Given the description of an element on the screen output the (x, y) to click on. 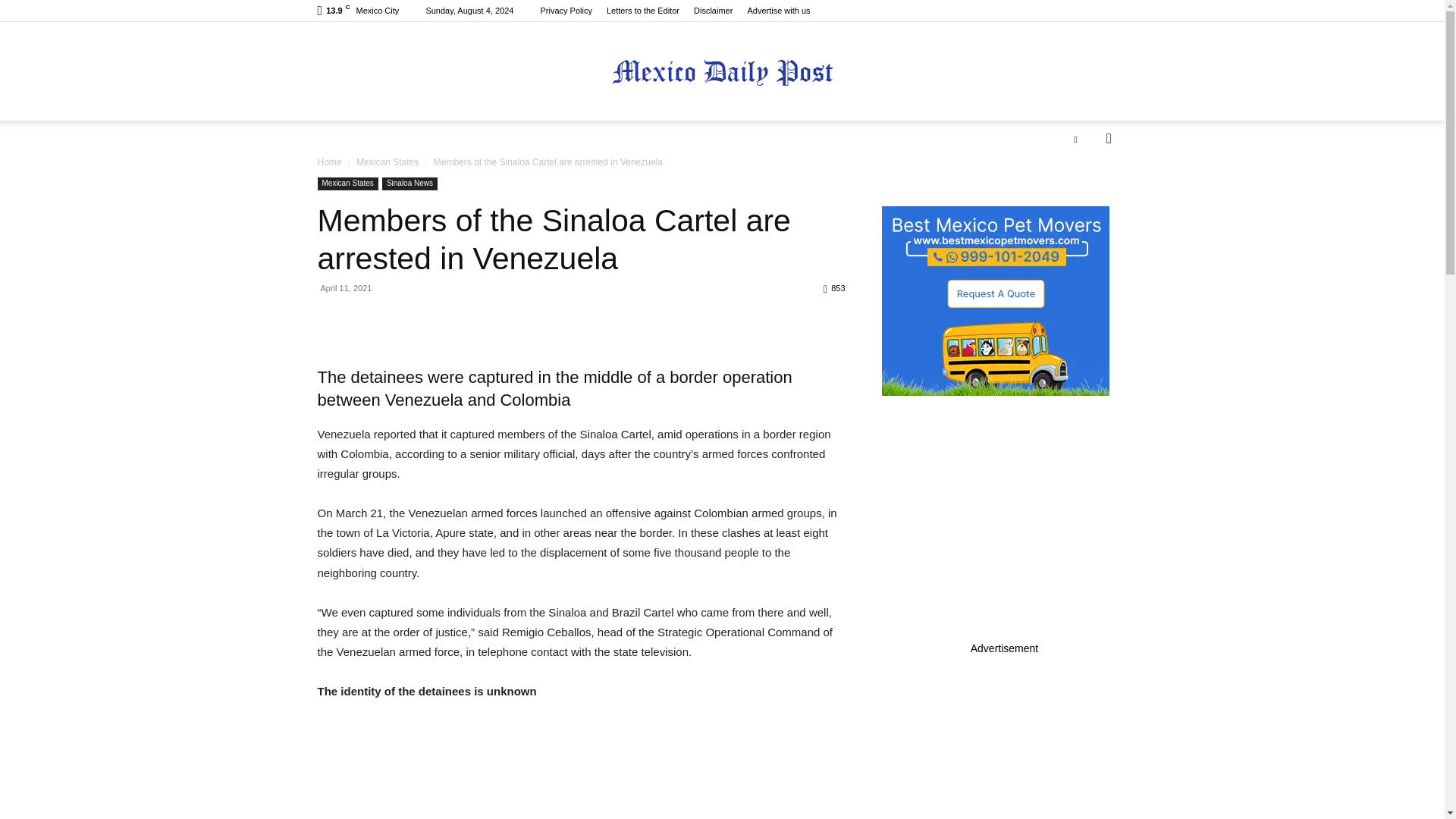
Advertise with us (777, 10)
Letters to the Editor (643, 10)
Mexican States (347, 183)
Mexican States (387, 162)
Sinaloa News (409, 183)
Privacy Policy (565, 10)
Search (1085, 199)
Mexico Daily Post (721, 72)
View all posts in Mexican States (387, 162)
Home (328, 162)
Disclaimer (713, 10)
Twitter (1075, 138)
